Given the description of an element on the screen output the (x, y) to click on. 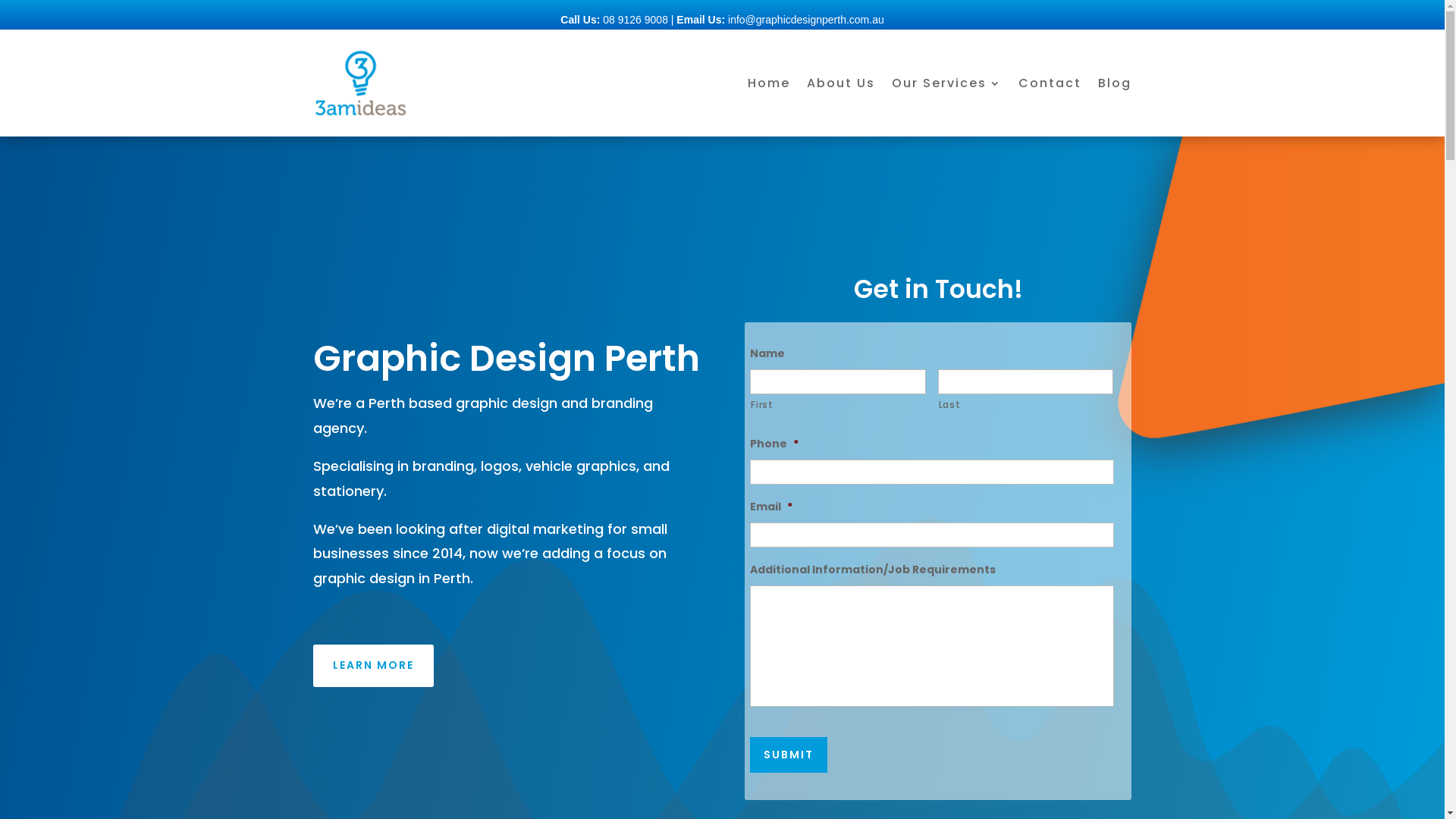
About Us Element type: text (840, 85)
LEARN MORE Element type: text (372, 665)
info@graphicdesignperth.com.au Element type: text (806, 19)
Submit Element type: text (788, 754)
Home Element type: text (768, 85)
Our Services Element type: text (946, 85)
08 9126 9008 Element type: text (635, 19)
Contact Element type: text (1049, 85)
Blog Element type: text (1114, 85)
Graphic Design Perth Logo Element type: hover (359, 82)
